Given the description of an element on the screen output the (x, y) to click on. 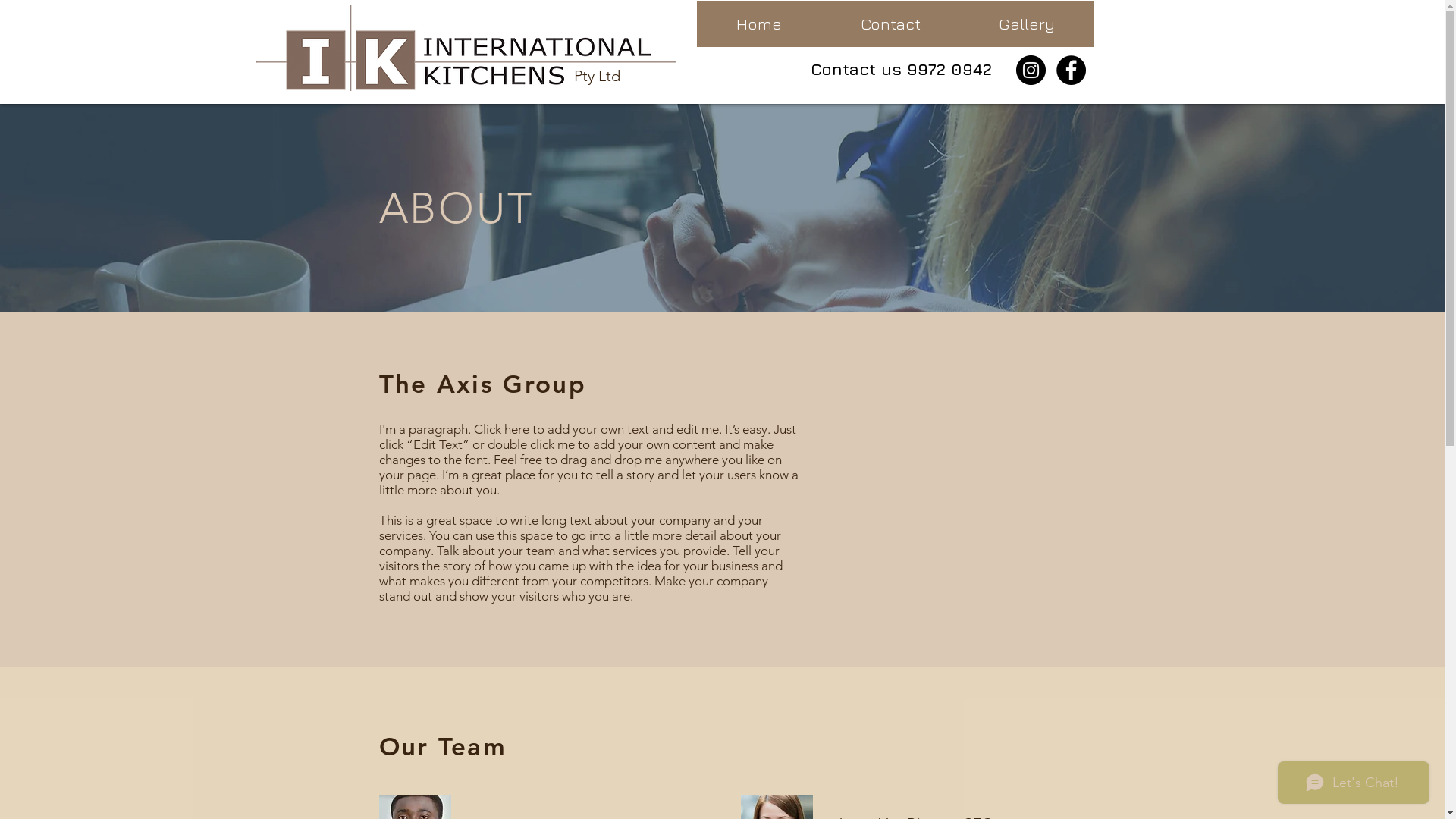
Contact Element type: text (889, 23)
Home Element type: text (758, 23)
Gallery Element type: text (1027, 23)
